Given the description of an element on the screen output the (x, y) to click on. 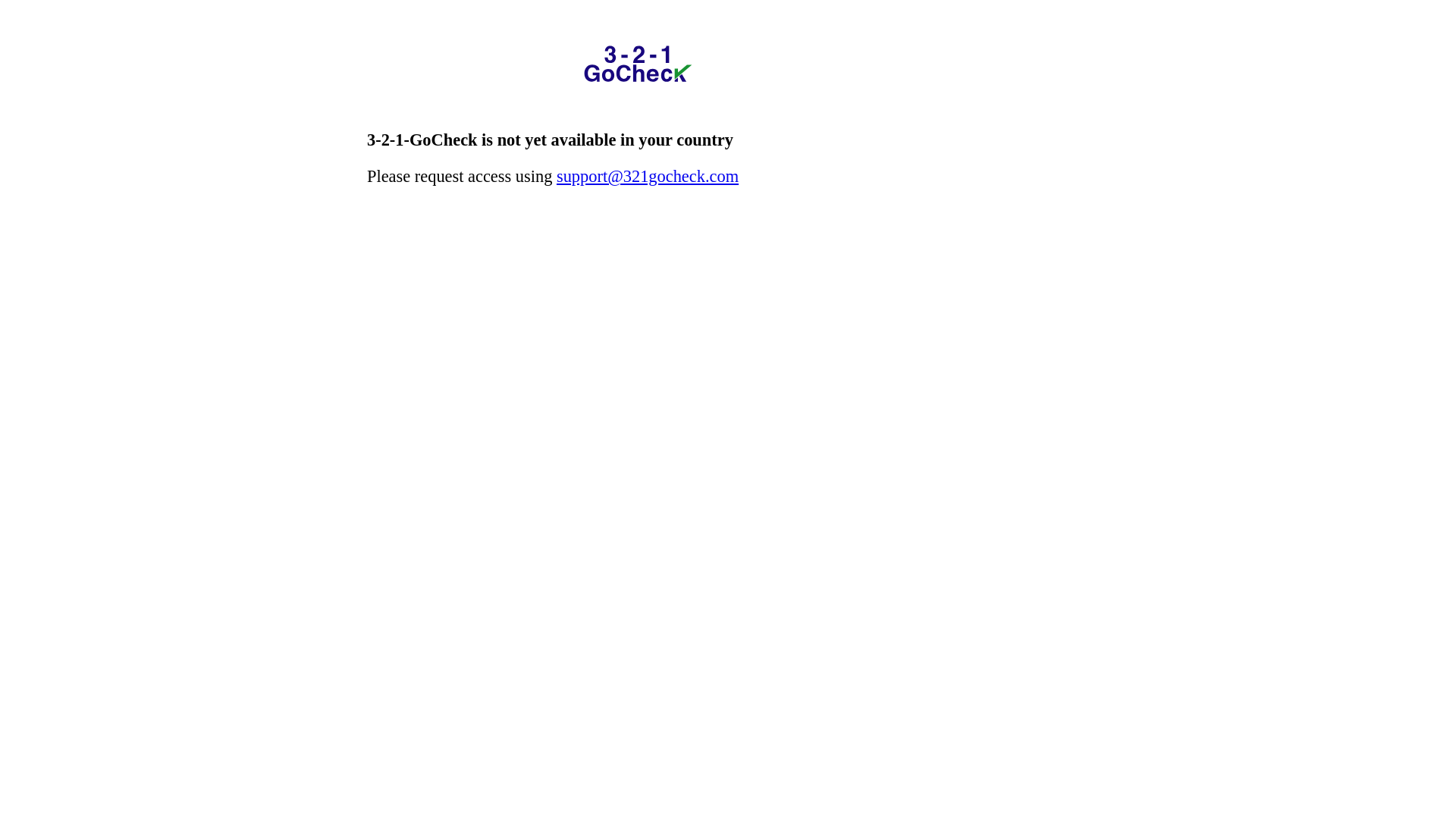
support@321gocheck.com Element type: text (647, 175)
